Given the description of an element on the screen output the (x, y) to click on. 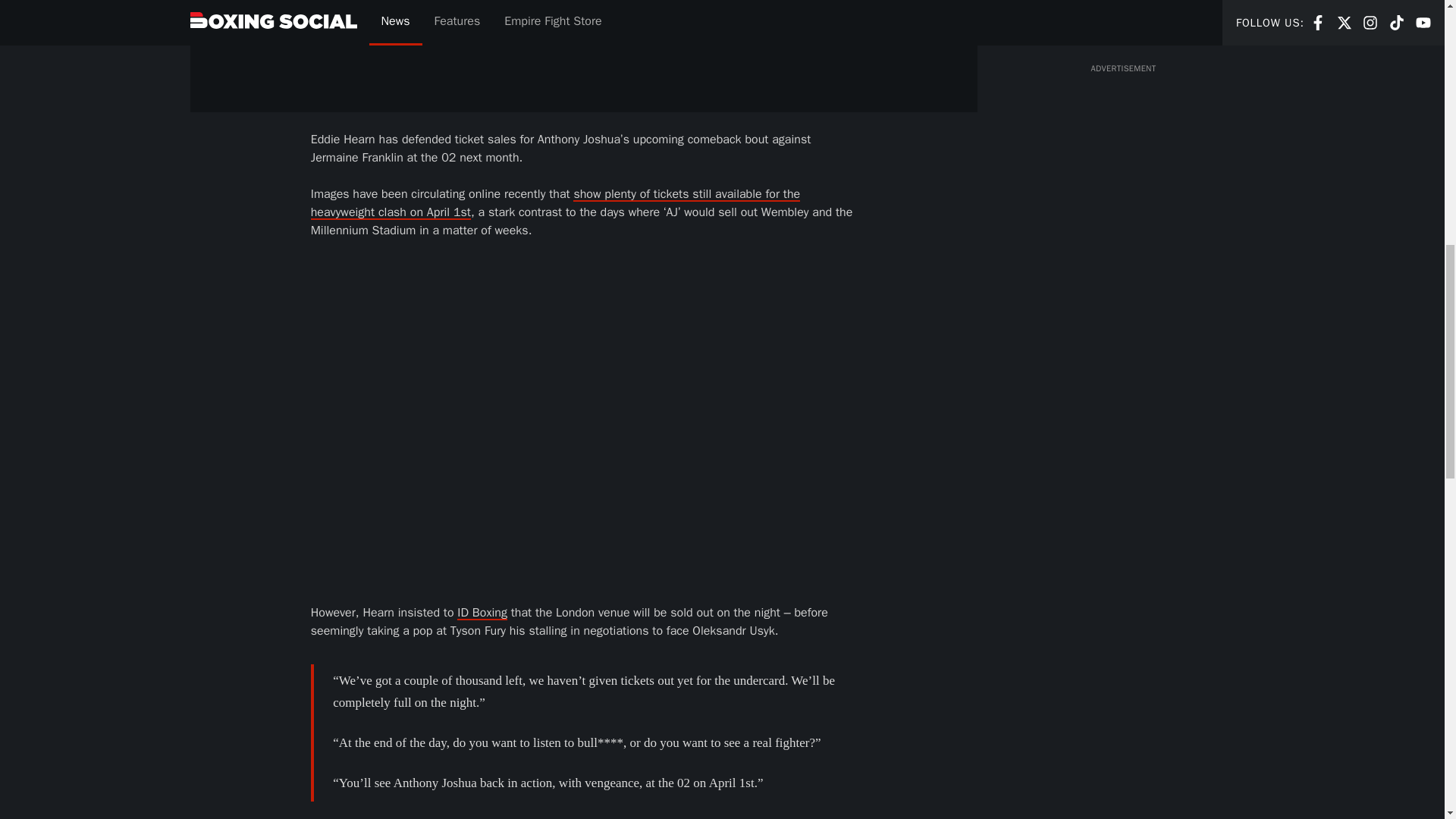
ID Boxing (481, 612)
